Given the description of an element on the screen output the (x, y) to click on. 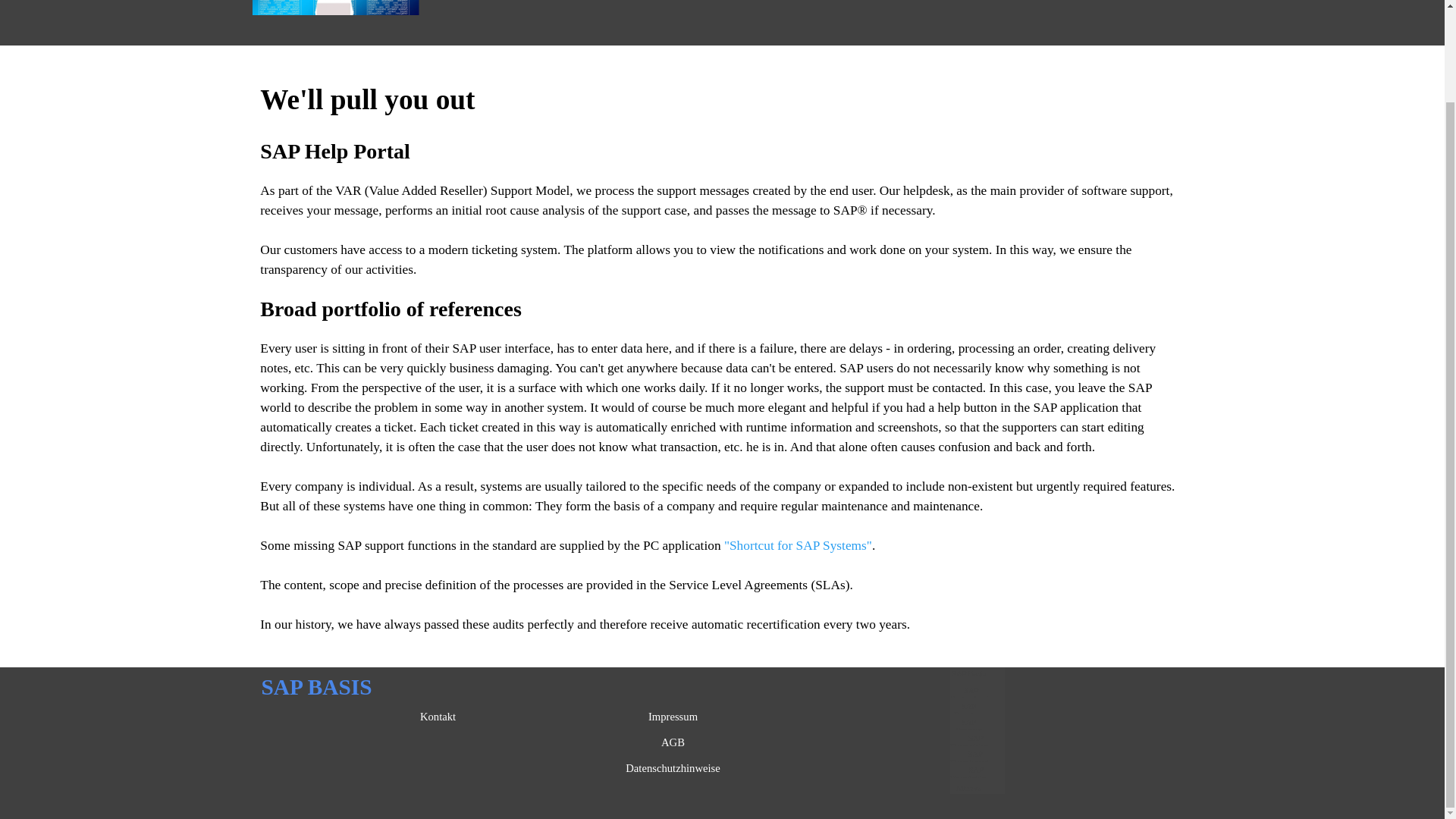
Datenschutzhinweise (672, 767)
Mirrors (968, 787)
Impressum (672, 716)
AGB (672, 742)
Kontakt (438, 716)
"Shortcut for SAP Systems" (797, 545)
